Given the description of an element on the screen output the (x, y) to click on. 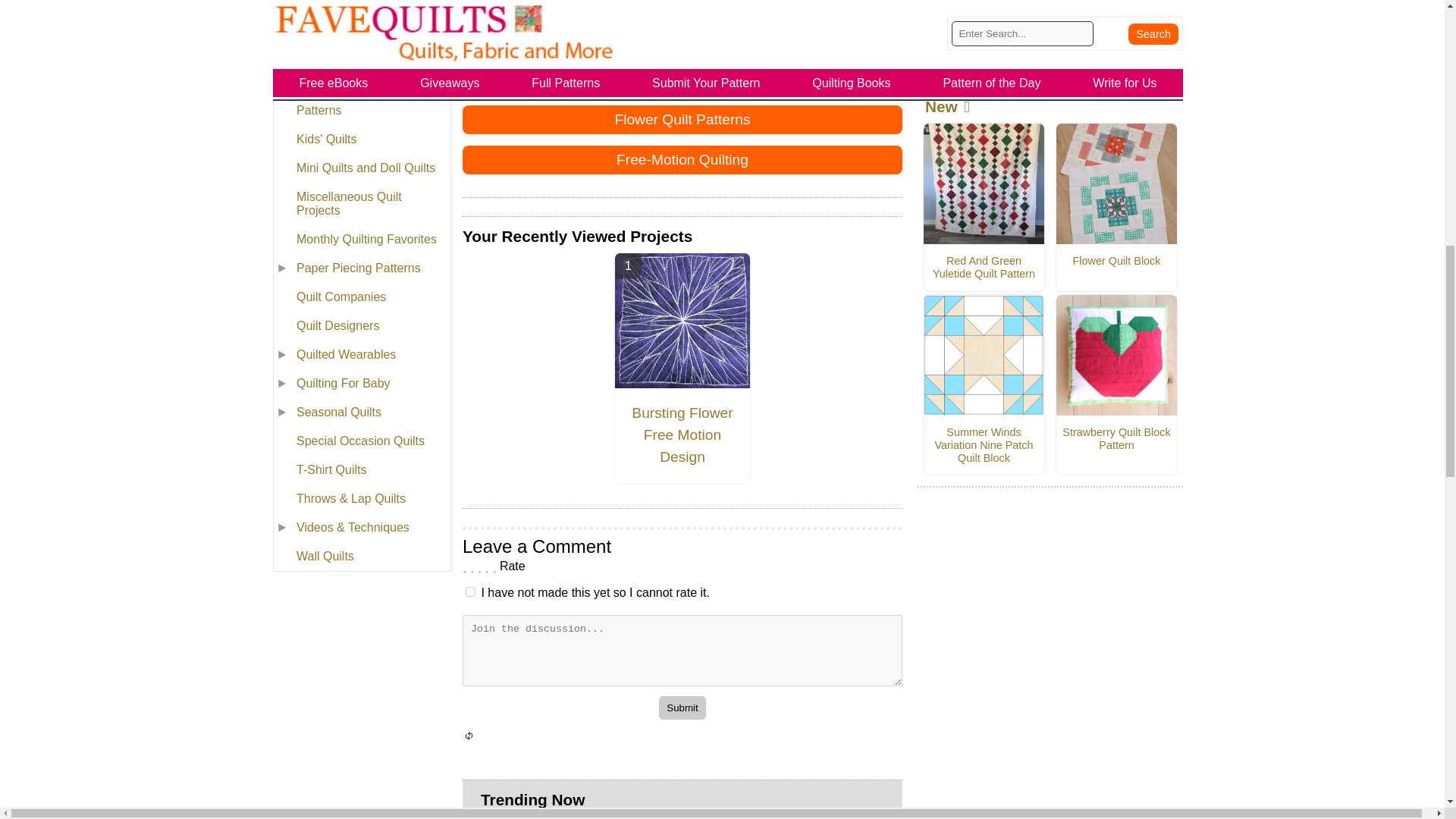
Submit (681, 707)
1 (470, 592)
